Given the description of an element on the screen output the (x, y) to click on. 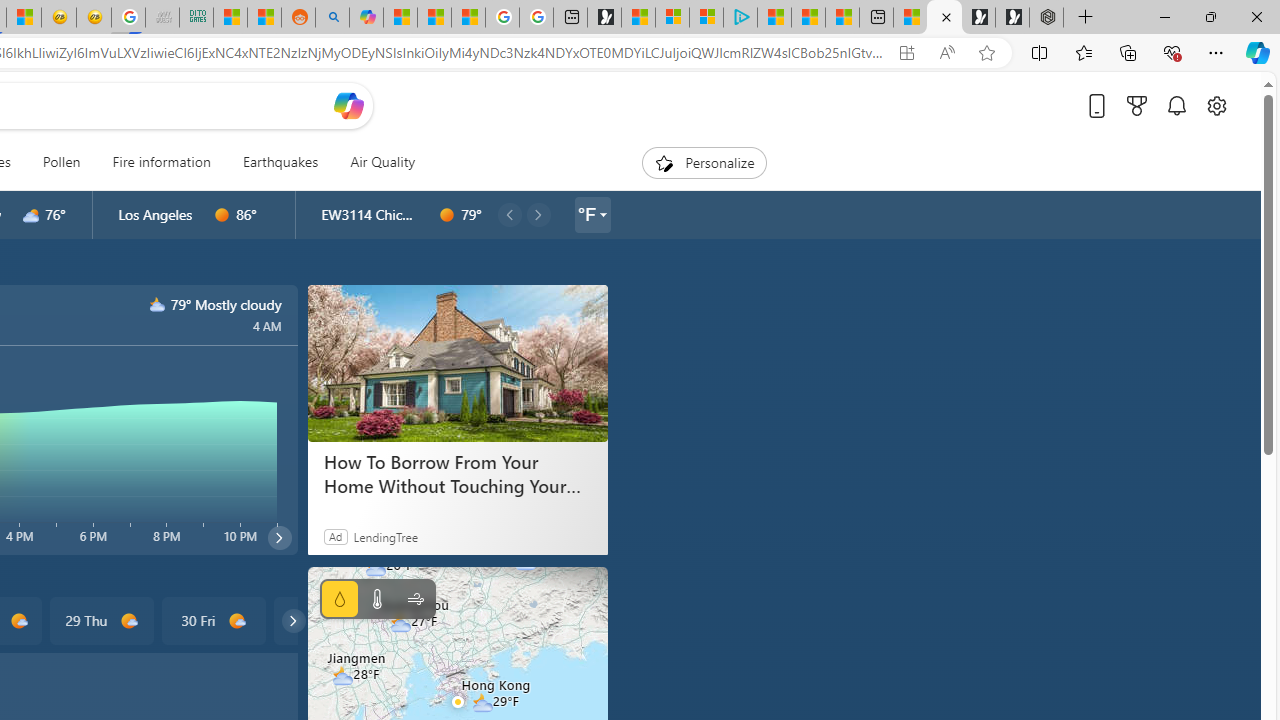
Microsoft Copilot in Bing (365, 17)
common/carouselChevron (293, 620)
Fire information (161, 162)
common/carouselChevron (293, 620)
